Given the description of an element on the screen output the (x, y) to click on. 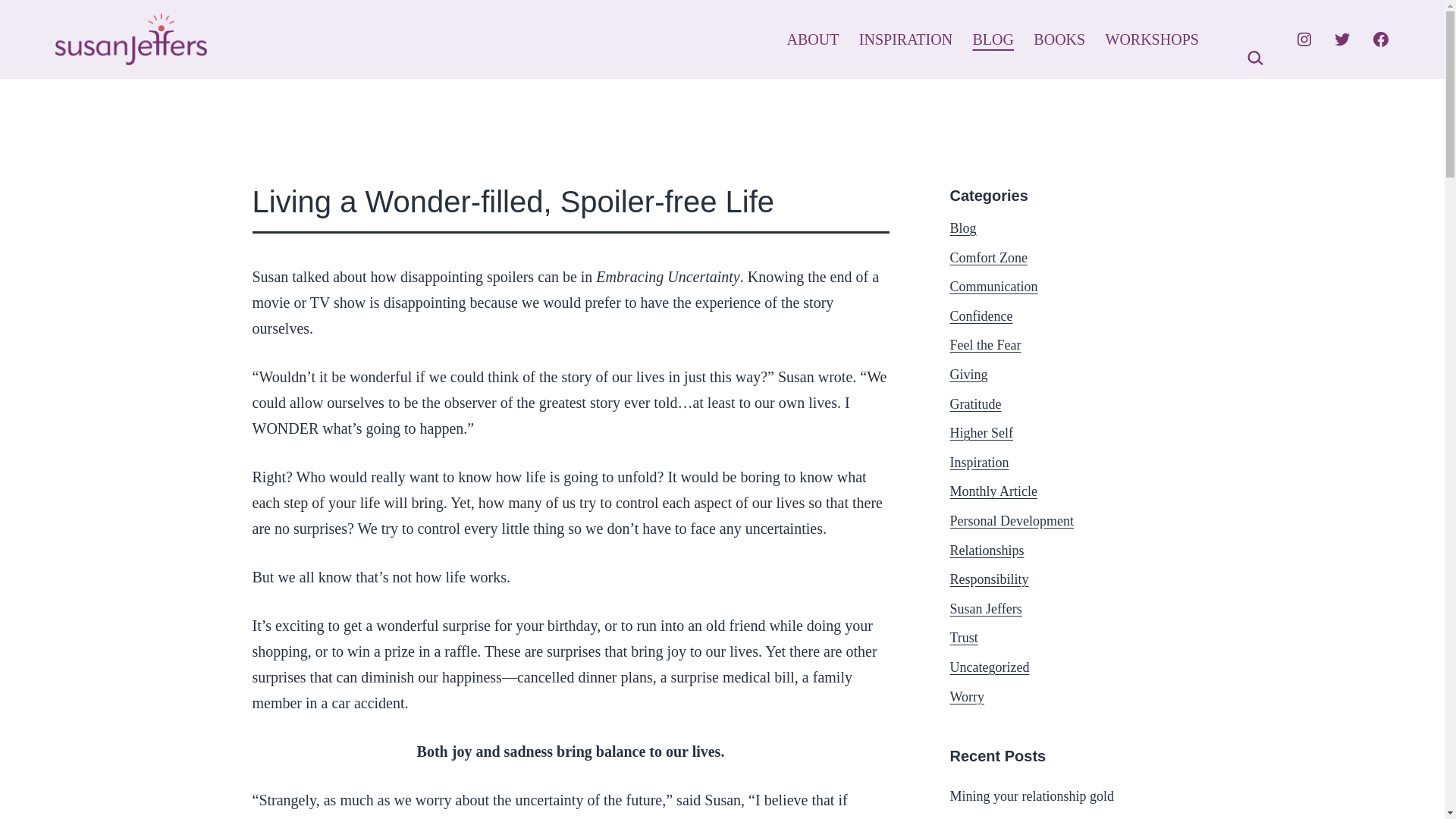
Confidence (980, 315)
Comfort Zone (987, 257)
INSTAGRAM (1304, 39)
BLOG (992, 38)
Relationships (986, 549)
Personal Development (1011, 520)
Higher Self (980, 432)
FACEBOOK (1380, 39)
WORKSHOPS (1151, 38)
BOOKS (1058, 38)
Feel the Fear (984, 344)
Gratitude (975, 403)
Giving (968, 374)
ABOUT (812, 38)
Blog (962, 227)
